Given the description of an element on the screen output the (x, y) to click on. 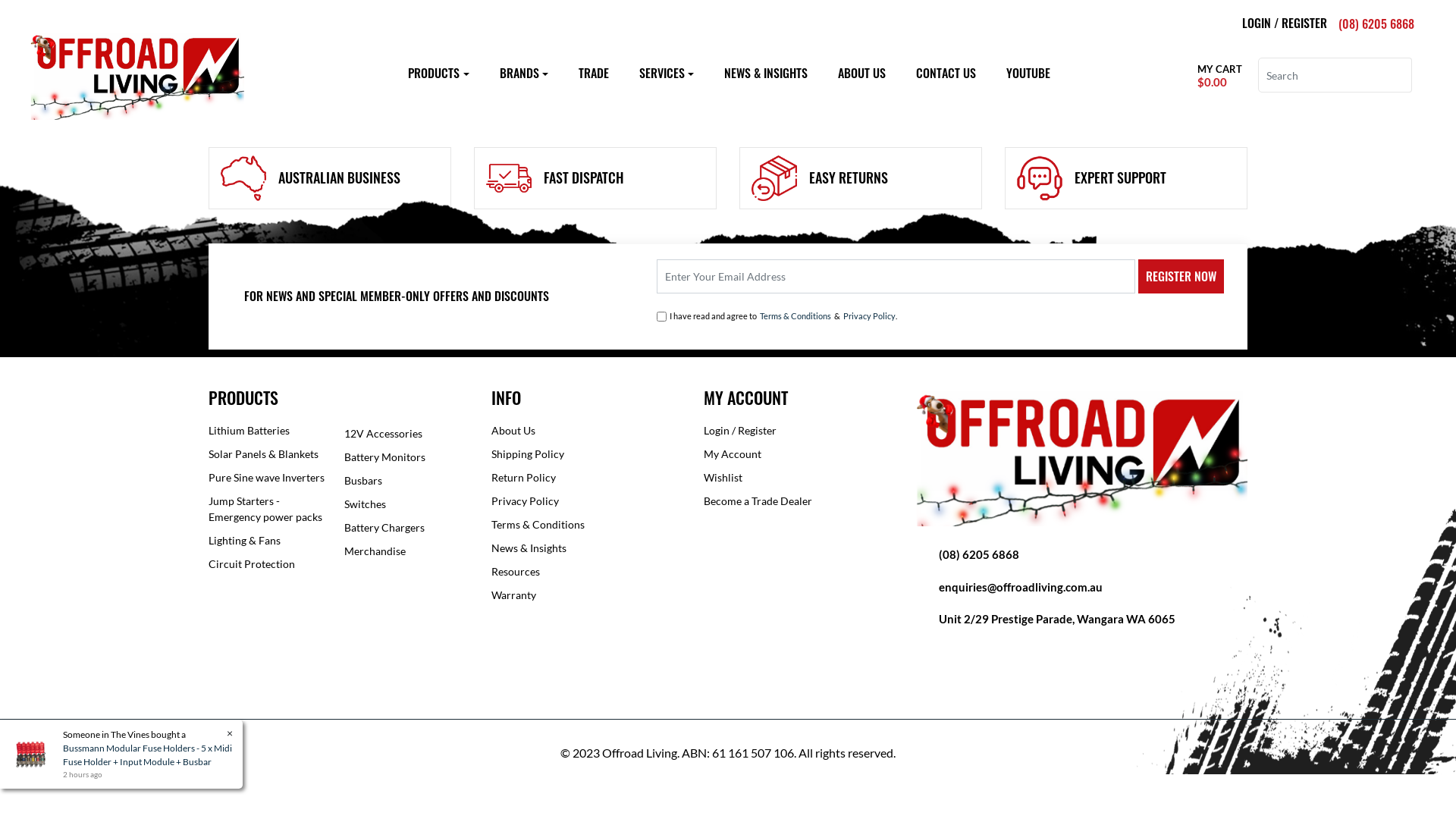
Return Policy Element type: text (585, 477)
CONTACT US Element type: text (945, 72)
MY CART
$0.00 Element type: text (1215, 75)
News & Insights Element type: text (585, 547)
Jump Starters - Emergency power packs Element type: text (270, 508)
Pure Sine wave Inverters Element type: text (270, 477)
Busbars Element type: text (406, 480)
enquiries@offroadliving.com.au Element type: text (1020, 586)
About Us Element type: text (585, 430)
Shipping Policy Element type: text (585, 453)
Terms & Conditions Element type: text (585, 524)
Become a Trade Dealer Element type: text (798, 500)
(08) 6205 6868 Element type: text (1376, 23)
12V Accessories Element type: text (406, 433)
Switches Element type: text (406, 503)
Search Element type: text (1402, 74)
Battery Chargers Element type: text (406, 527)
Offroad Living Element type: hover (137, 73)
Wishlist Element type: text (798, 477)
Battery Monitors Element type: text (406, 456)
My Account Element type: text (798, 453)
YOUTUBE Element type: text (1028, 72)
ABOUT US Element type: text (861, 72)
TRADE Element type: text (593, 72)
Lighting & Fans Element type: text (270, 540)
Login / Register Element type: text (798, 430)
Warranty Element type: text (585, 594)
Merchandise Element type: text (406, 550)
LOGIN / REGISTER Element type: text (1284, 22)
NEWS & INSIGHTS Element type: text (765, 72)
HOME Element type: text (229, 83)
Terms & Conditions Element type: text (795, 316)
REGISTER NOW Element type: text (1180, 276)
Solar Panels & Blankets Element type: text (270, 453)
SERVICES Element type: text (666, 72)
Circuit Protection Element type: text (270, 563)
Lithium Batteries Element type: text (270, 430)
Privacy Policy Element type: text (869, 316)
PRODUCTS Element type: text (437, 72)
Resources Element type: text (585, 571)
BRANDS Element type: text (522, 72)
Privacy Policy Element type: text (585, 500)
(08) 6205 6868 Element type: text (978, 554)
